Given the description of an element on the screen output the (x, y) to click on. 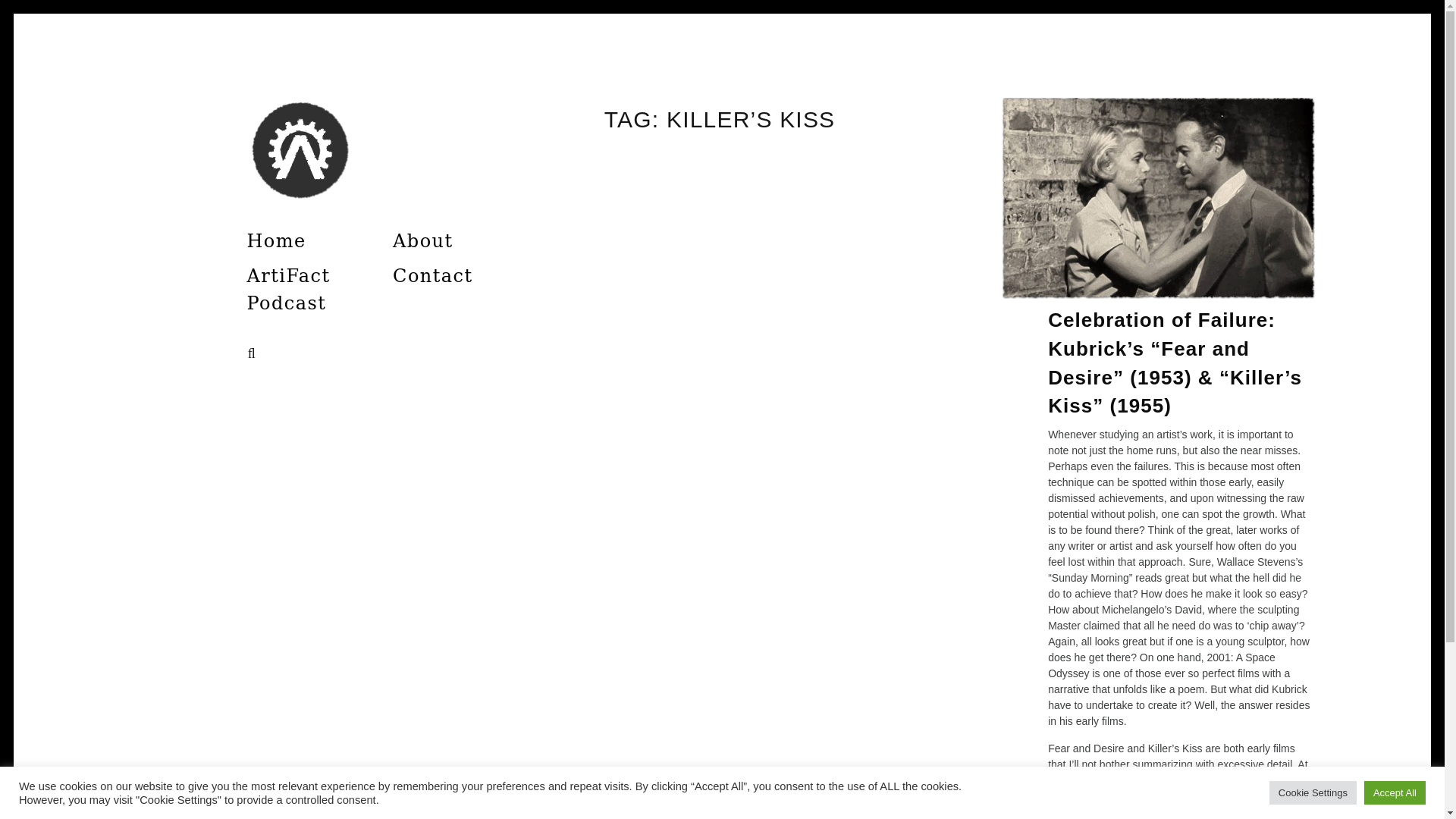
AUTOMACHINATION (435, 231)
Home (275, 240)
SEARCH (254, 353)
About (422, 240)
ArtiFact Podcast (285, 289)
Cookie Settings (1312, 792)
Contact (432, 275)
